Given the description of an element on the screen output the (x, y) to click on. 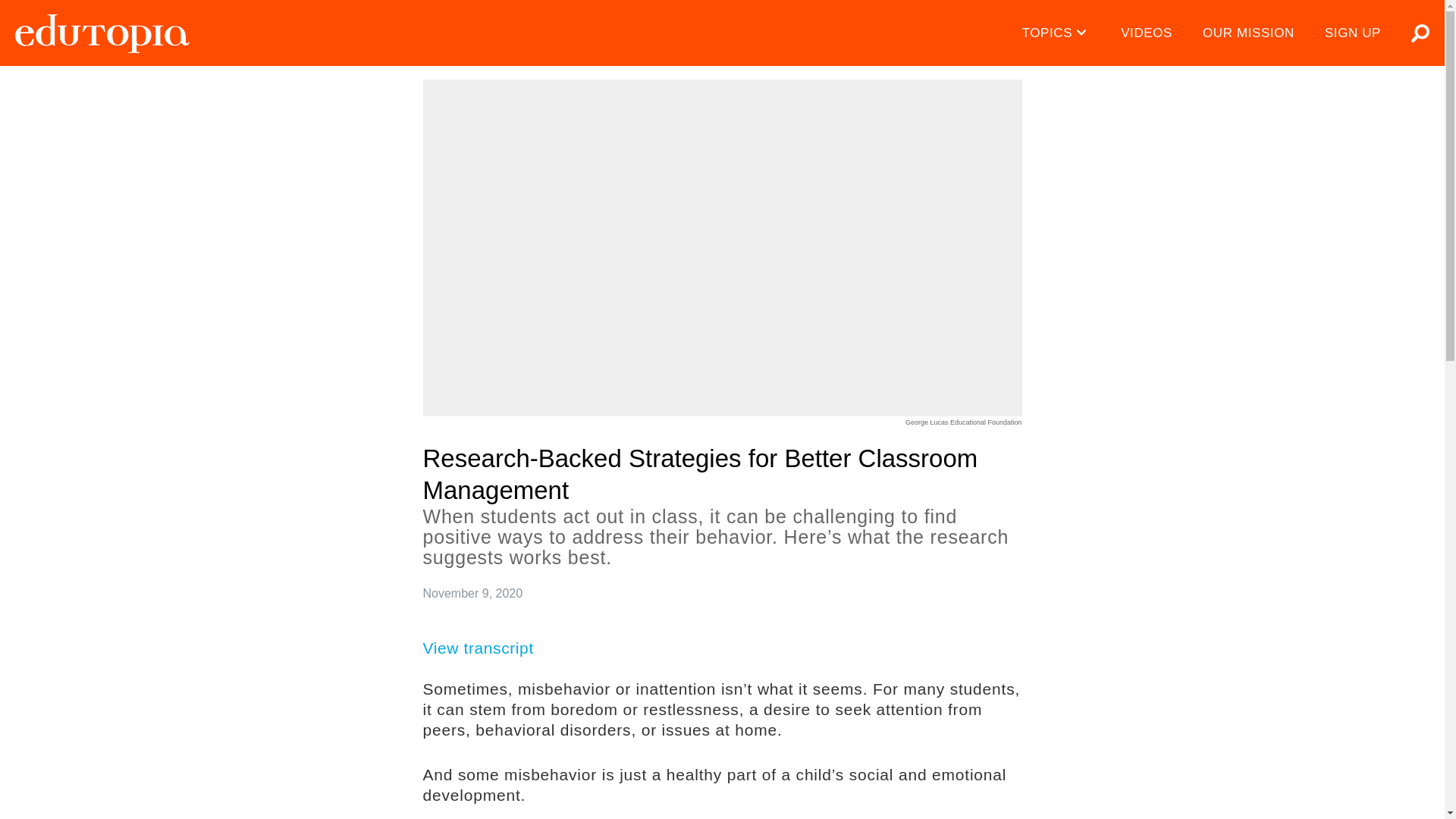
VIDEOS (1146, 33)
TOPICS (1056, 33)
Edutopia (101, 33)
SIGN UP (1352, 33)
View transcript (488, 648)
OUR MISSION (1248, 33)
Edutopia (101, 33)
